Given the description of an element on the screen output the (x, y) to click on. 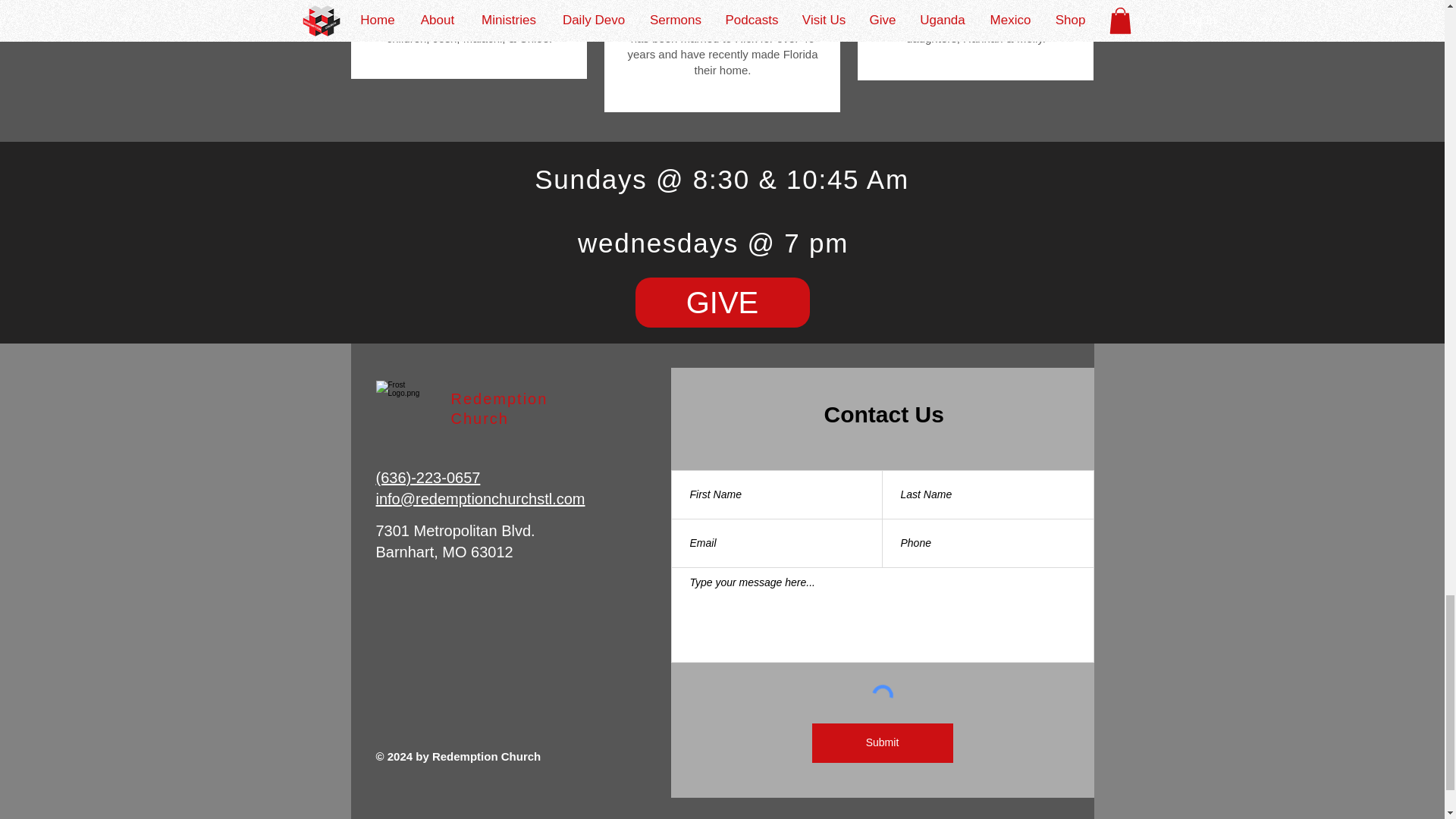
Submit (881, 742)
GIVE (721, 302)
